Given the description of an element on the screen output the (x, y) to click on. 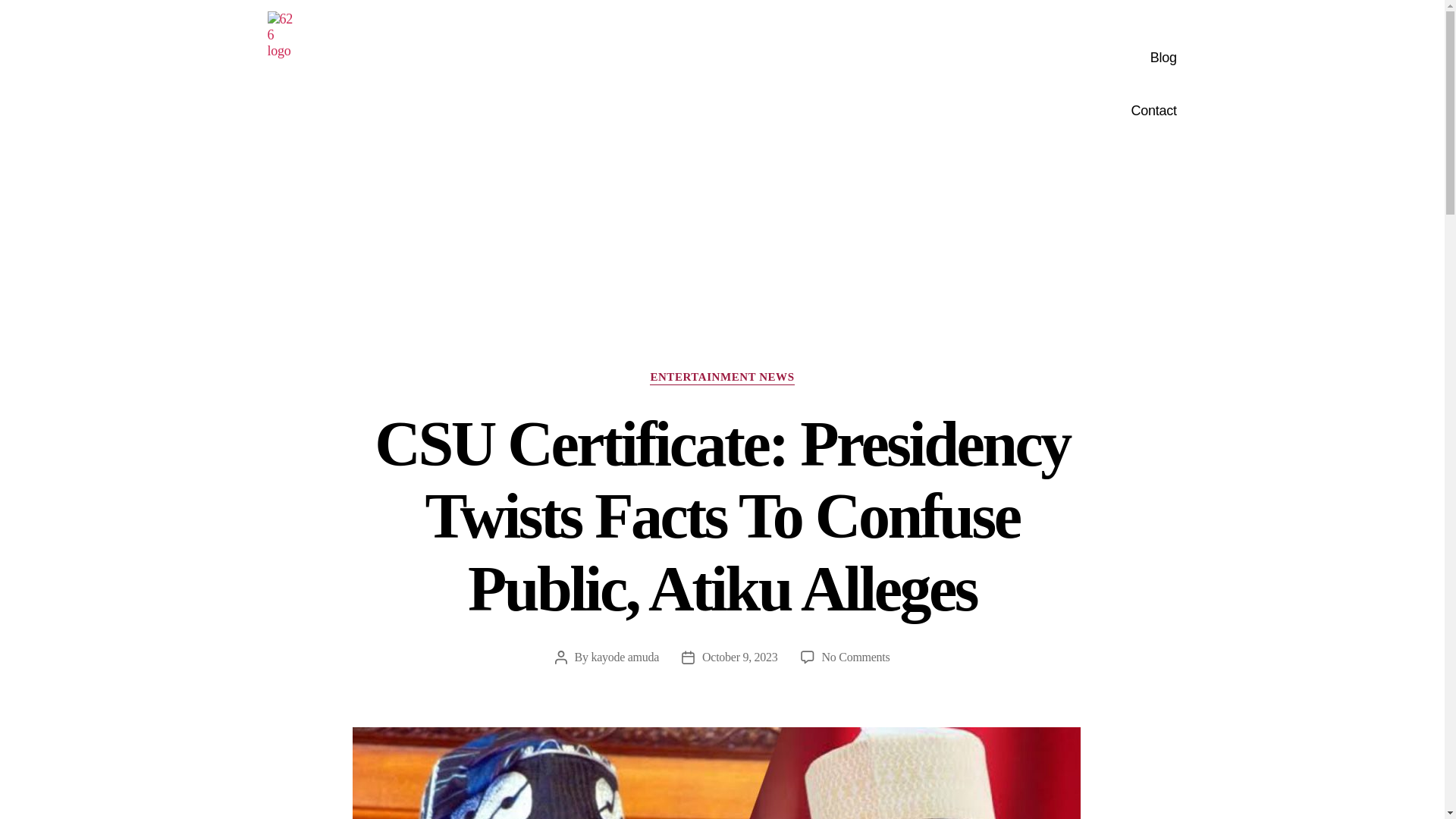
October 9, 2023 (739, 656)
Blog (893, 57)
ENTERTAINMENT NEWS (721, 377)
No Comments (855, 656)
Contact (893, 110)
kayode amuda (625, 656)
